Given the description of an element on the screen output the (x, y) to click on. 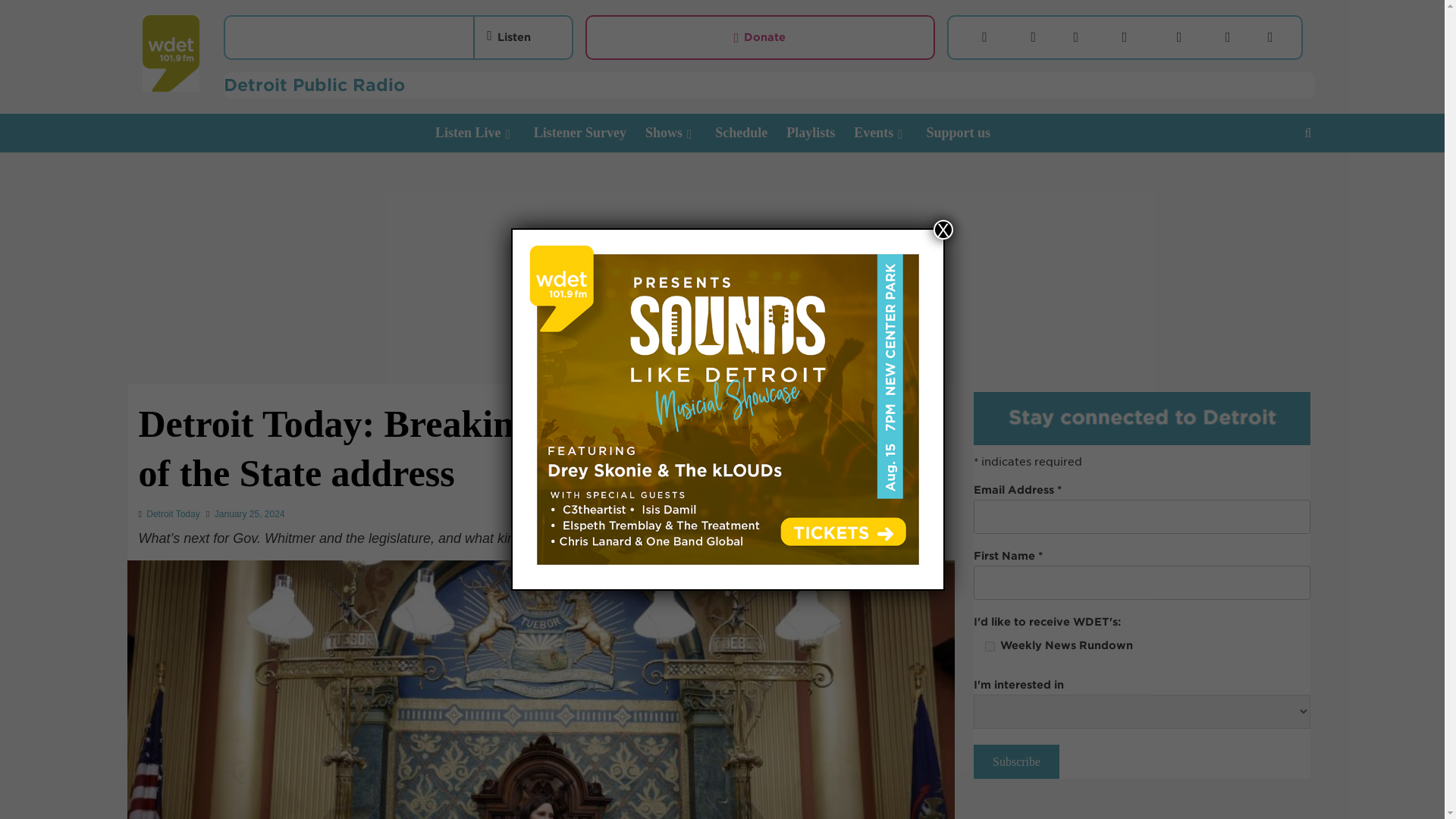
Search (1272, 179)
January 25, 2024 (249, 513)
Support us (967, 132)
Listener Survey (589, 132)
Shows (679, 132)
Events (889, 132)
3rd party ad content (1142, 812)
Listen Live (484, 132)
1 (989, 646)
Subscribe (1016, 761)
Donate (759, 37)
Detroit Today (173, 513)
Listen (508, 36)
Schedule (750, 132)
